Given the description of an element on the screen output the (x, y) to click on. 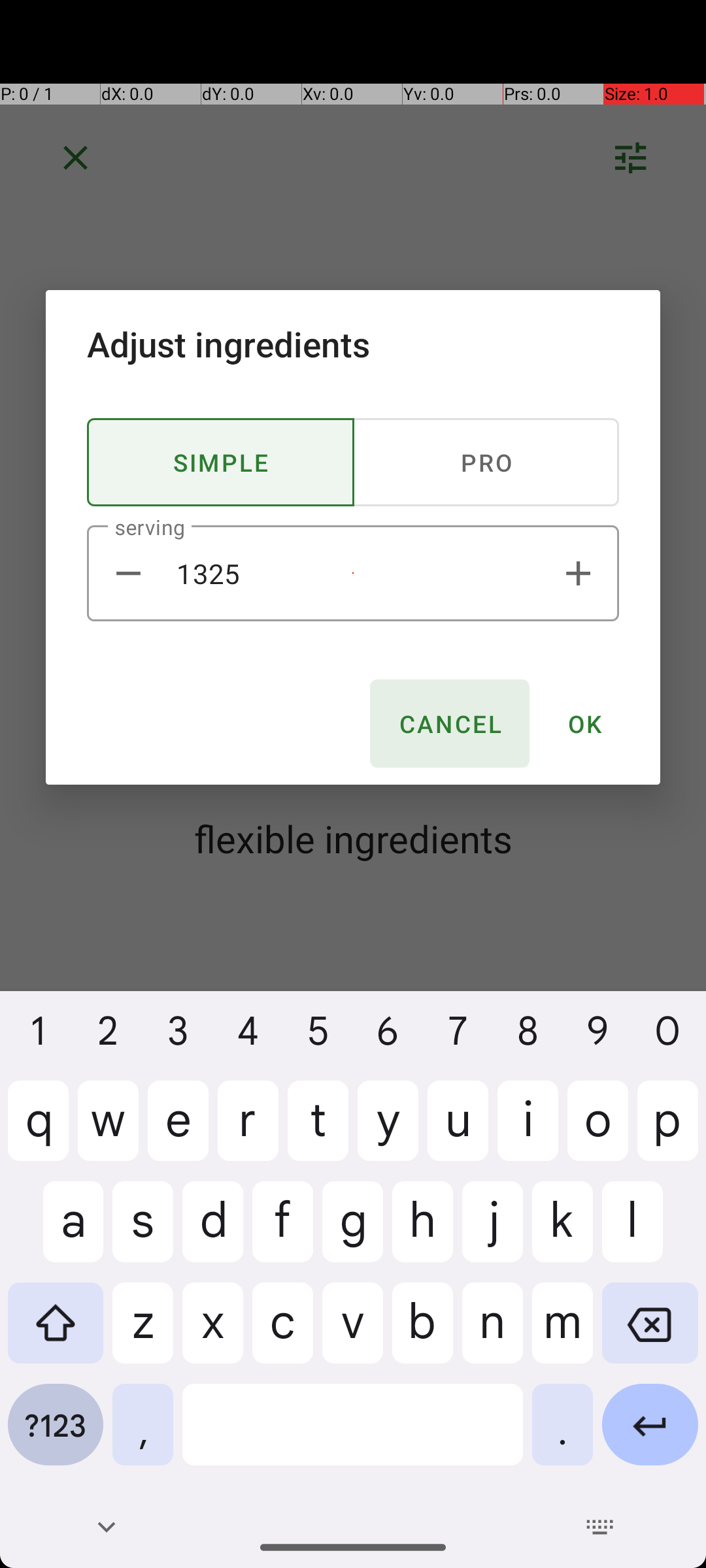
1325 Element type: android.widget.EditText (352, 573)
